Given the description of an element on the screen output the (x, y) to click on. 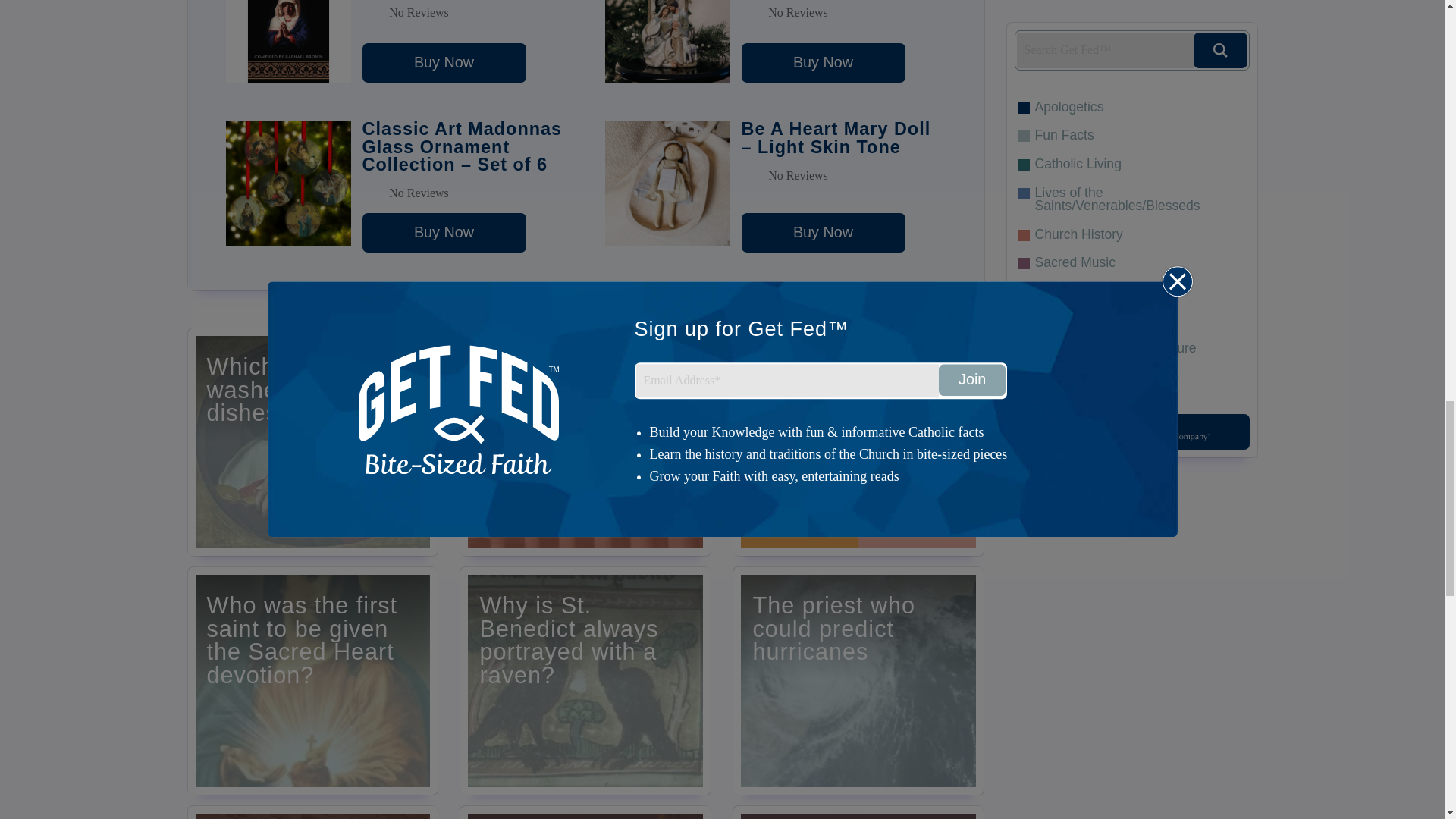
What is the papal tiara? (858, 442)
Rating of this product is 0 out of 5. (843, 175)
Rating of this product is 0 out of 5. (464, 192)
The prisoner-guard who became a guardian of the Faith (312, 812)
Which cardinal washed his own dishes? (312, 442)
Do we know what happened to the seamless robe of Jesus? (858, 812)
Buy Now (443, 62)
The Life of Mary As Seen By the Mystics (443, 62)
Buy Now (443, 232)
Rating of this product is 0 out of 5. (464, 16)
The priest who could predict hurricanes (858, 680)
The ATMs at the Vatican speak what language? (585, 442)
Where is the oldest bible in the world? (585, 812)
Which cardinal washed his own dishes? (312, 442)
